Given the description of an element on the screen output the (x, y) to click on. 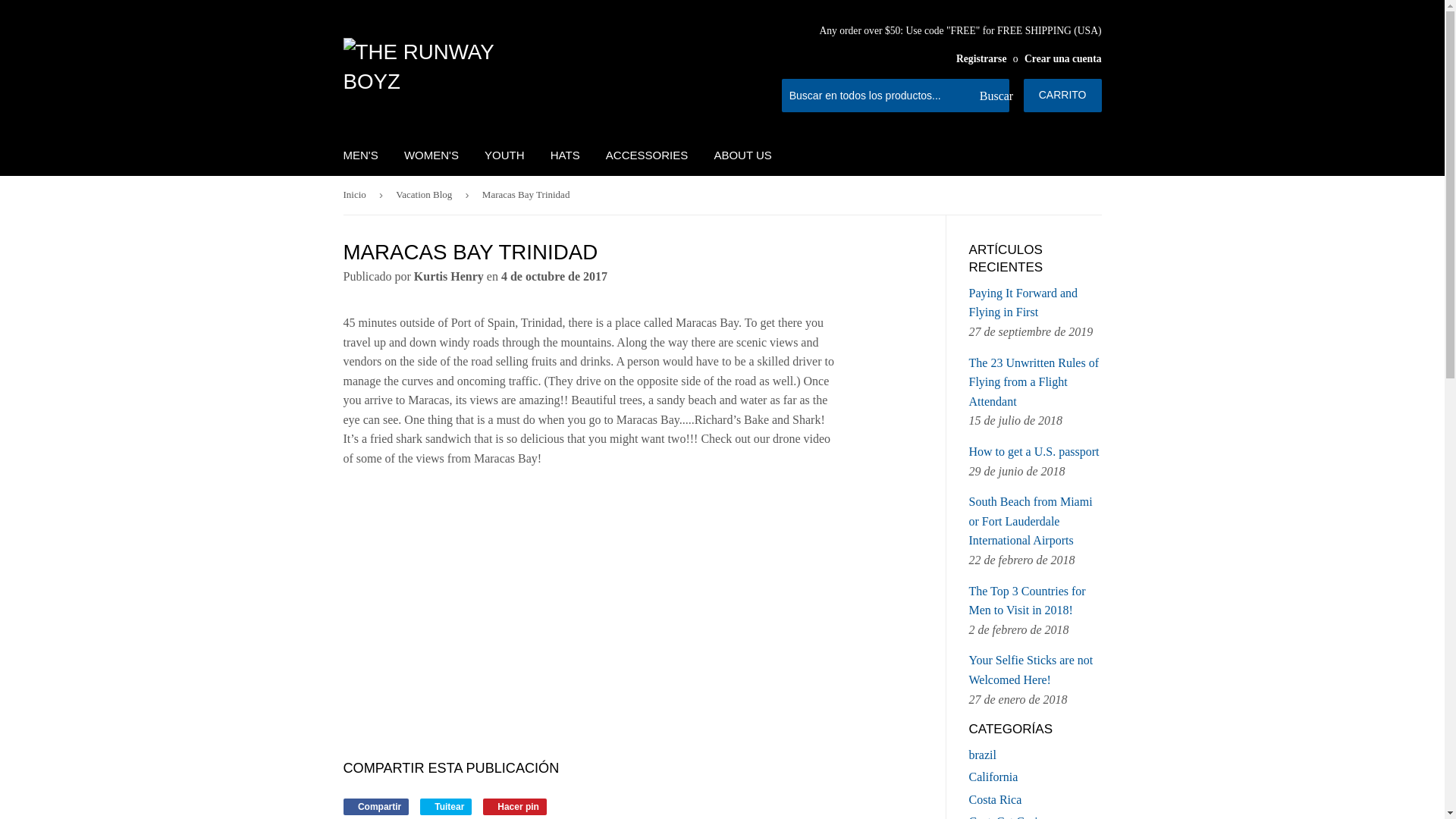
Show articles tagged California (993, 776)
Show articles tagged brazil (982, 754)
Tuitear en Twitter (445, 806)
Show articles tagged CostaCat Cruises (1010, 816)
Buscar (992, 96)
CARRITO (1062, 95)
Crear una cuenta (1062, 58)
Pinear en Pinterest (515, 806)
Compartir en Facebook (375, 806)
Show articles tagged Costa Rica (995, 799)
